Given the description of an element on the screen output the (x, y) to click on. 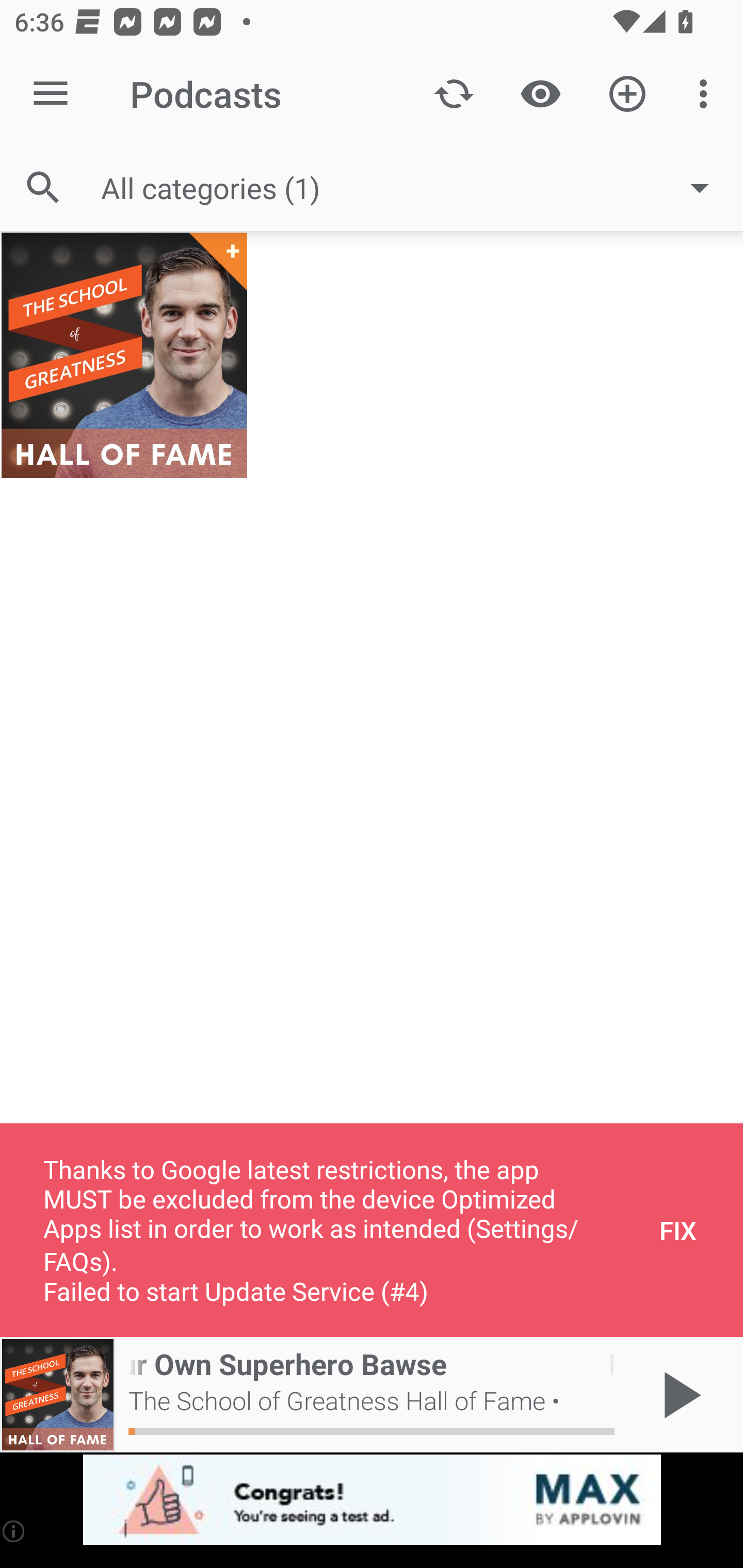
Open navigation sidebar (50, 93)
Update (453, 93)
Show / Hide played content (540, 93)
Add new Podcast (626, 93)
More options (706, 93)
Search (43, 187)
All categories (1) (414, 188)
The School of Greatness Hall of Fame + (124, 355)
FIX (677, 1229)
Play / Pause (677, 1394)
app-monetization (371, 1500)
(i) (14, 1531)
